Given the description of an element on the screen output the (x, y) to click on. 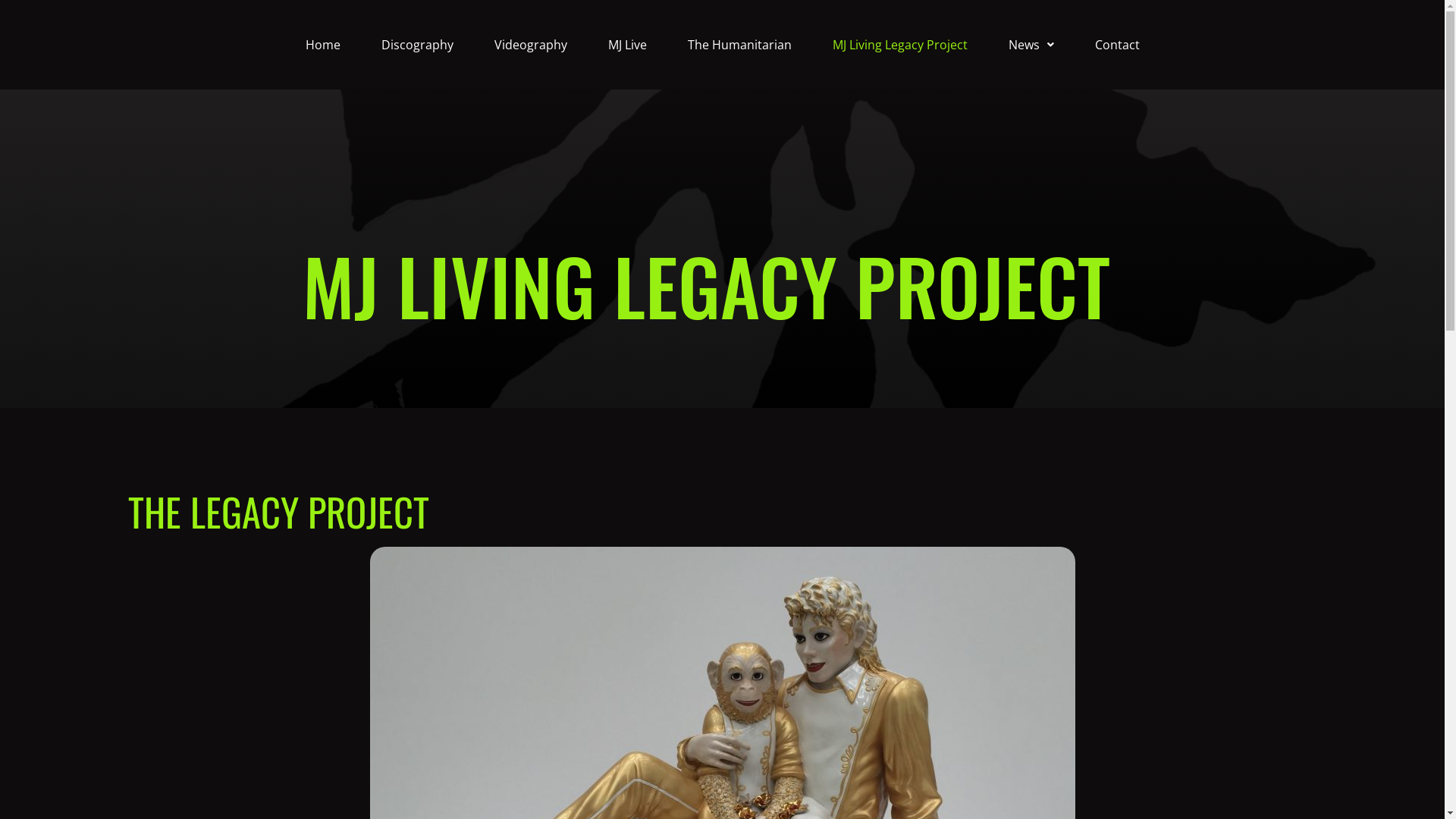
Videography Element type: text (529, 44)
Skip to content Element type: text (15, 7)
Home Element type: text (322, 44)
Discography Element type: text (417, 44)
News Element type: text (1030, 44)
MJ Living Legacy Project Element type: text (899, 44)
MJ Live Element type: text (626, 44)
The Humanitarian Element type: text (739, 44)
Contact Element type: text (1116, 44)
